Given the description of an element on the screen output the (x, y) to click on. 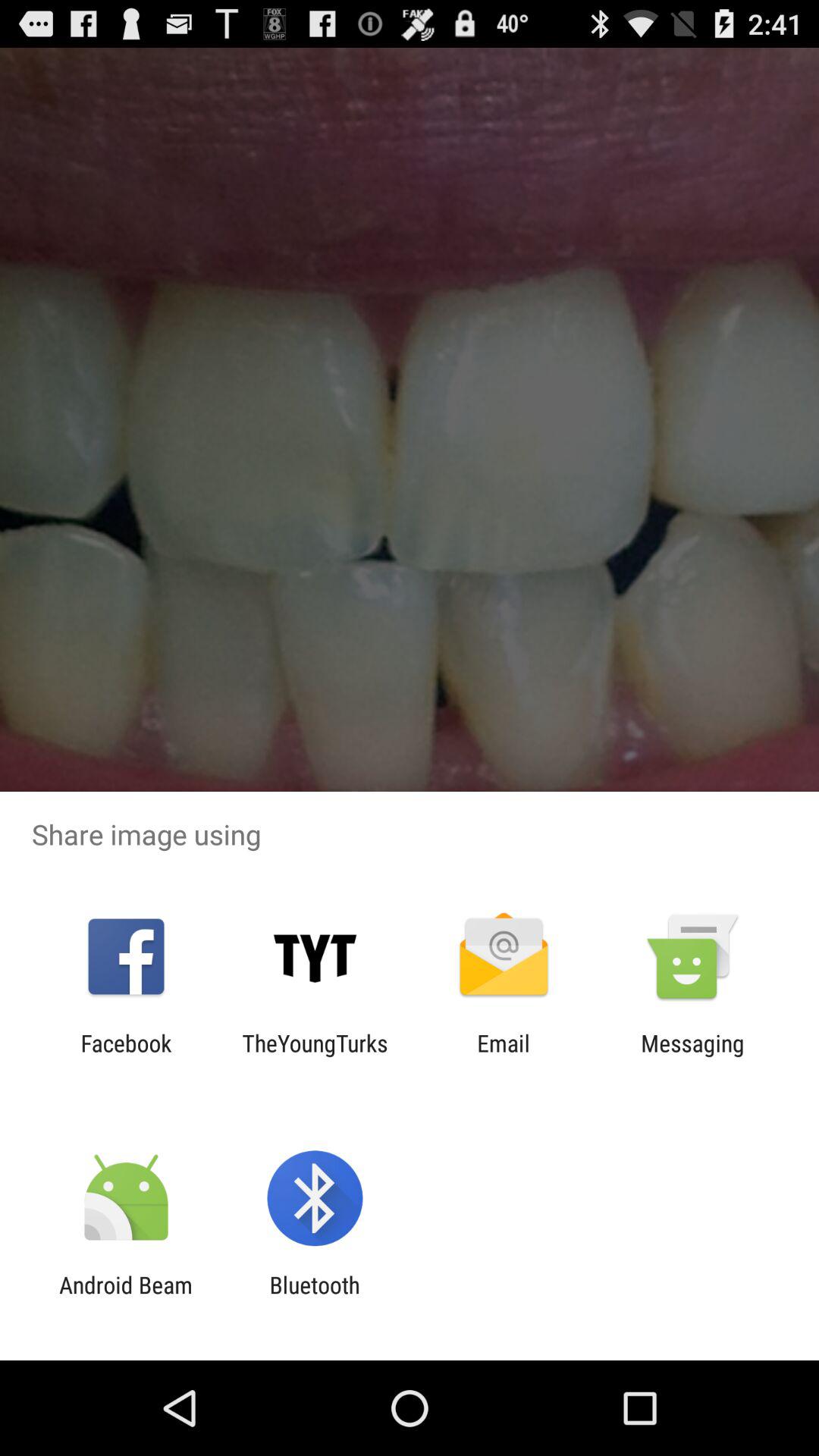
turn off the app to the right of the email icon (692, 1056)
